Given the description of an element on the screen output the (x, y) to click on. 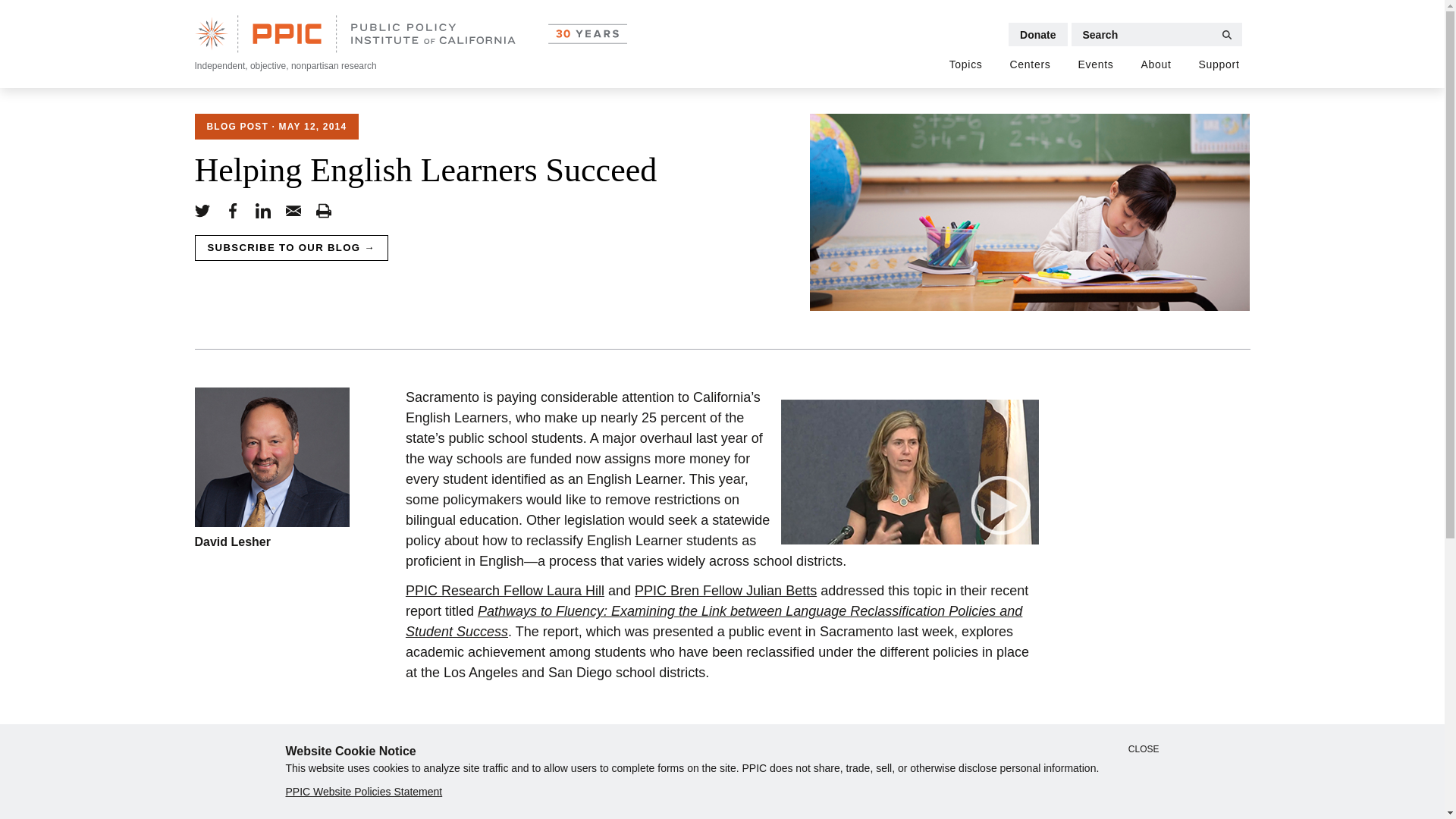
Donate (1038, 33)
Independent, objective, nonpartisan research (409, 43)
email (292, 210)
Centers (1030, 65)
facebook (232, 210)
printing-tool (322, 210)
Topics (965, 65)
Events (1094, 65)
About (1155, 65)
linkedin (261, 210)
